Given the description of an element on the screen output the (x, y) to click on. 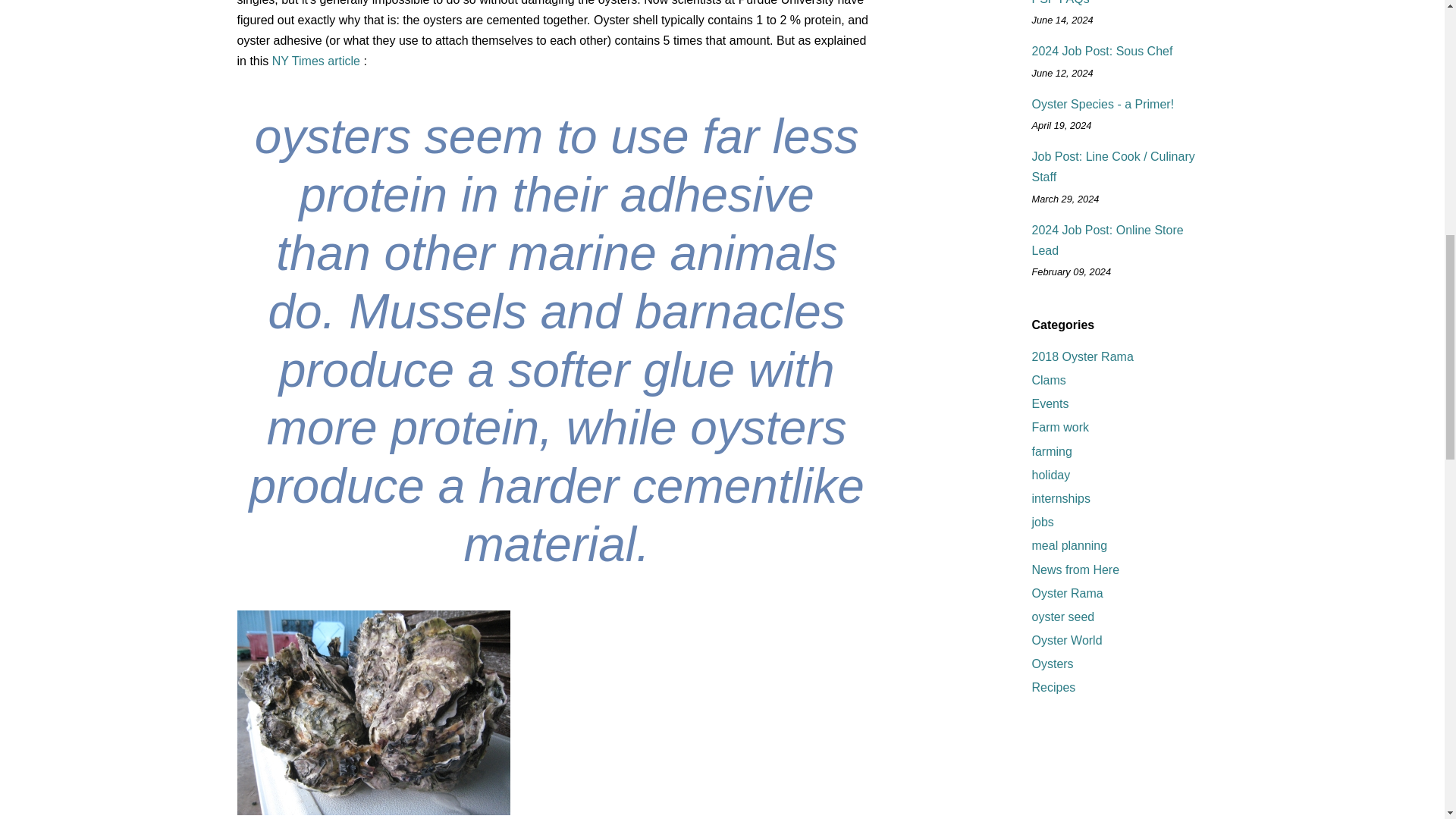
Show articles tagged Oyster World (1066, 640)
oysterbake (372, 712)
Show articles tagged Clams (1047, 379)
Show articles tagged jobs (1041, 521)
Show articles tagged Farm work (1059, 427)
Show articles tagged Events (1049, 403)
Show articles tagged meal planning (1068, 545)
Show articles tagged holiday (1050, 474)
Show articles tagged farming (1050, 451)
Show articles tagged Oyster Rama (1066, 593)
Show articles tagged internships (1059, 498)
Show articles tagged 2018 Oyster Rama (1081, 356)
Show articles tagged oyster seed (1062, 616)
Show articles tagged Oysters (1051, 663)
Show articles tagged News from Here (1074, 569)
